Given the description of an element on the screen output the (x, y) to click on. 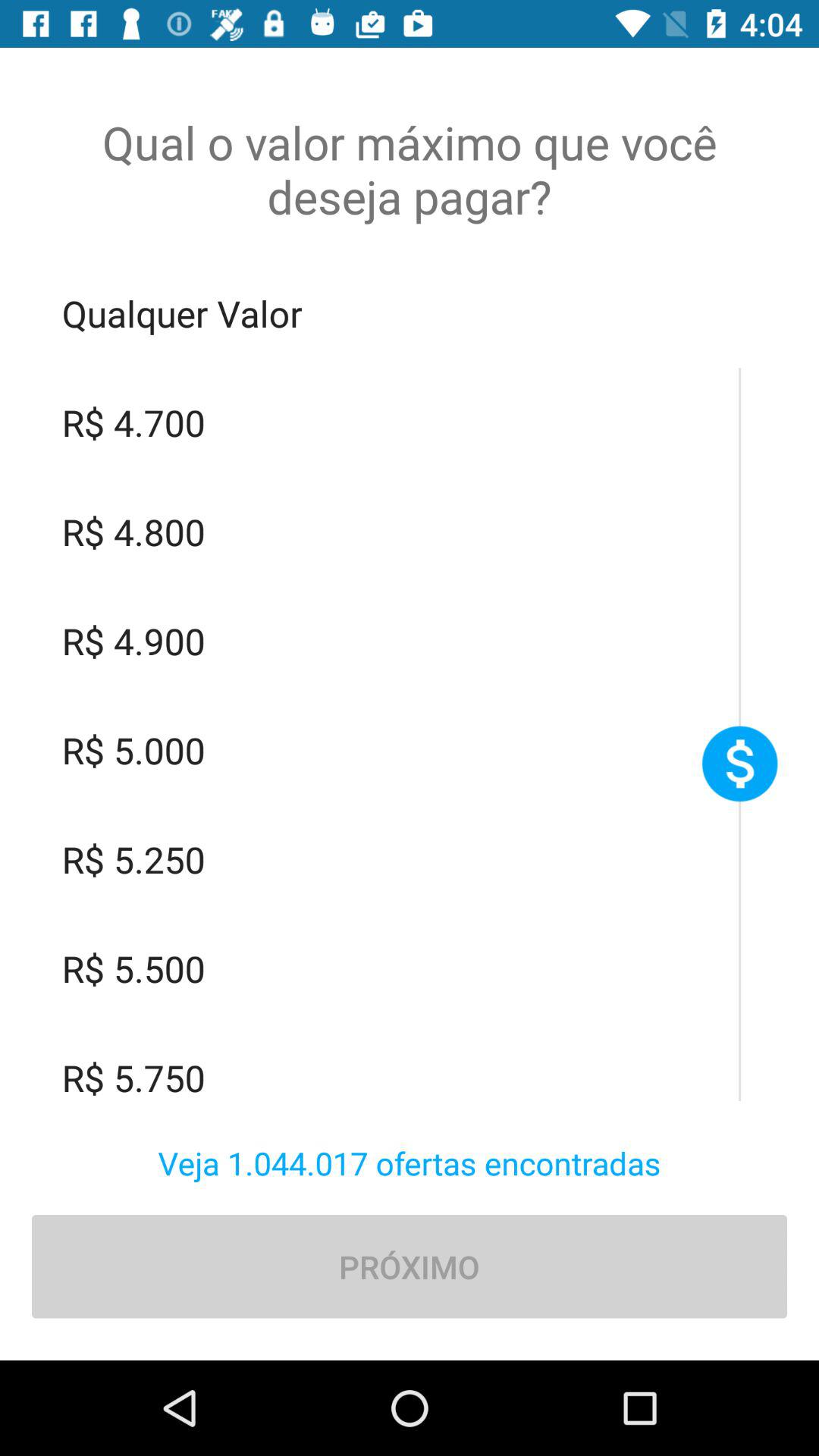
choose item below veja 1 044 (409, 1266)
